Given the description of an element on the screen output the (x, y) to click on. 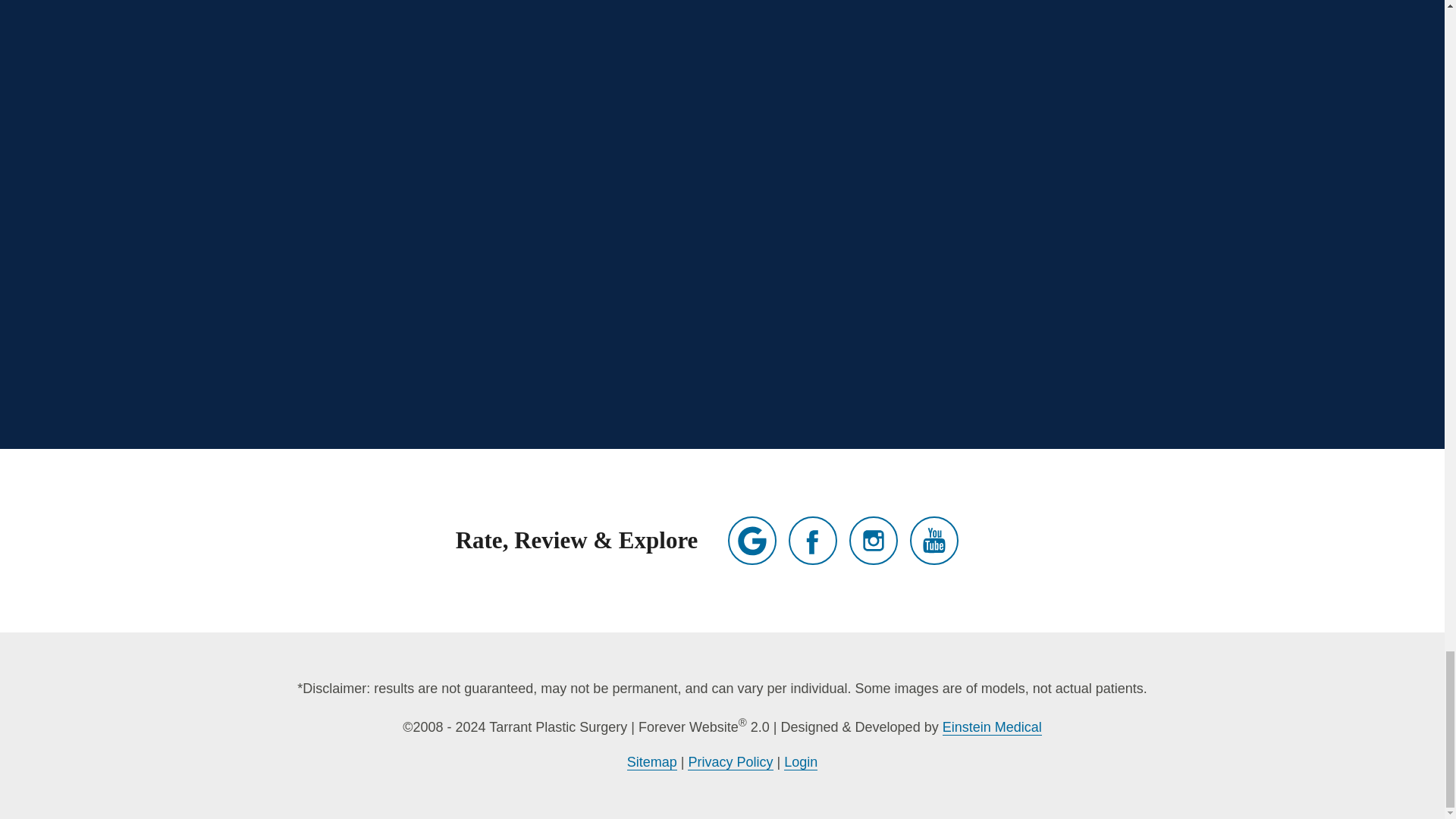
Instagram (873, 540)
YouTube (934, 540)
Google (752, 540)
Facebook (813, 540)
